Given the description of an element on the screen output the (x, y) to click on. 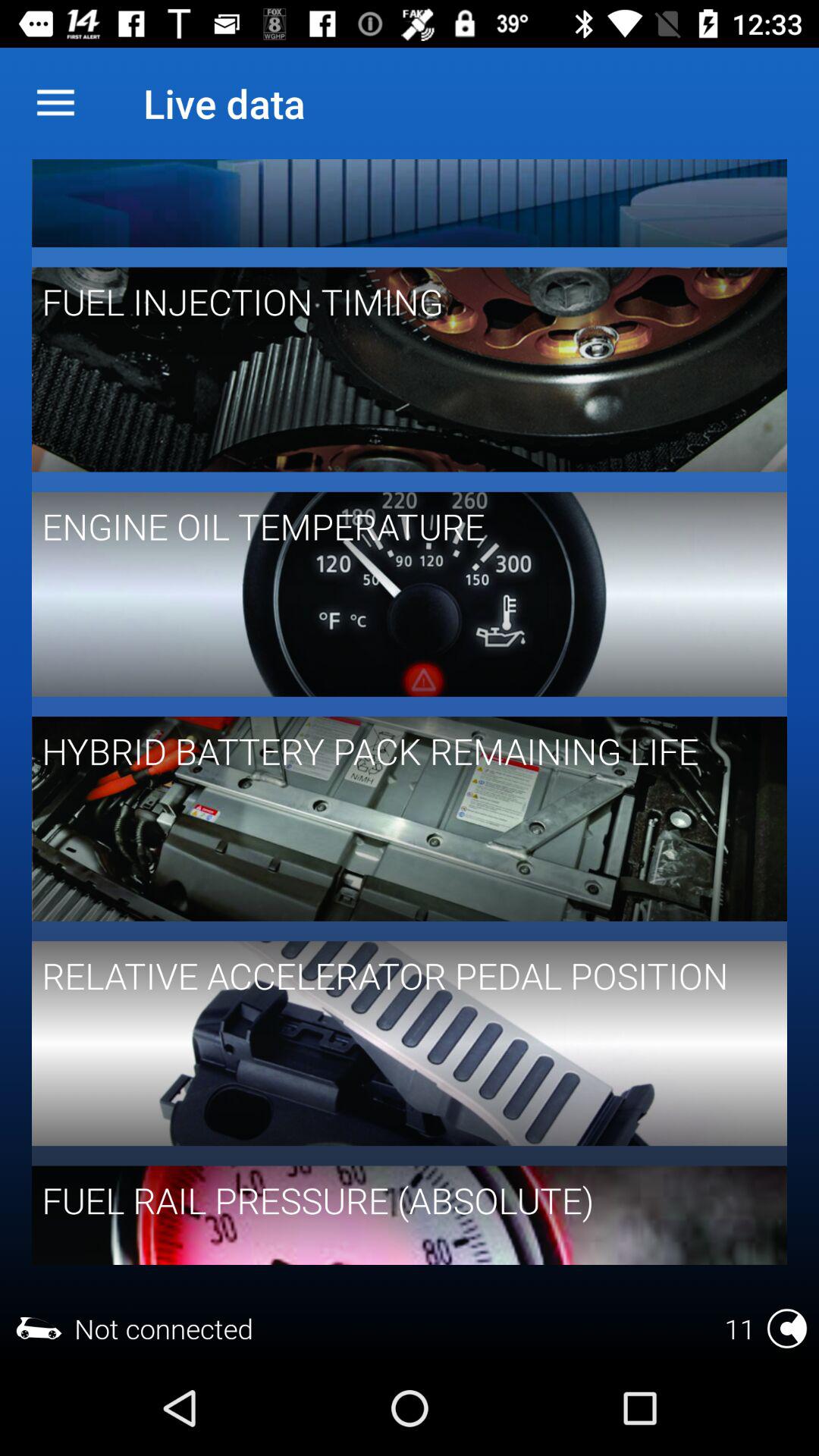
scroll to hybrid battery pack item (398, 750)
